Given the description of an element on the screen output the (x, y) to click on. 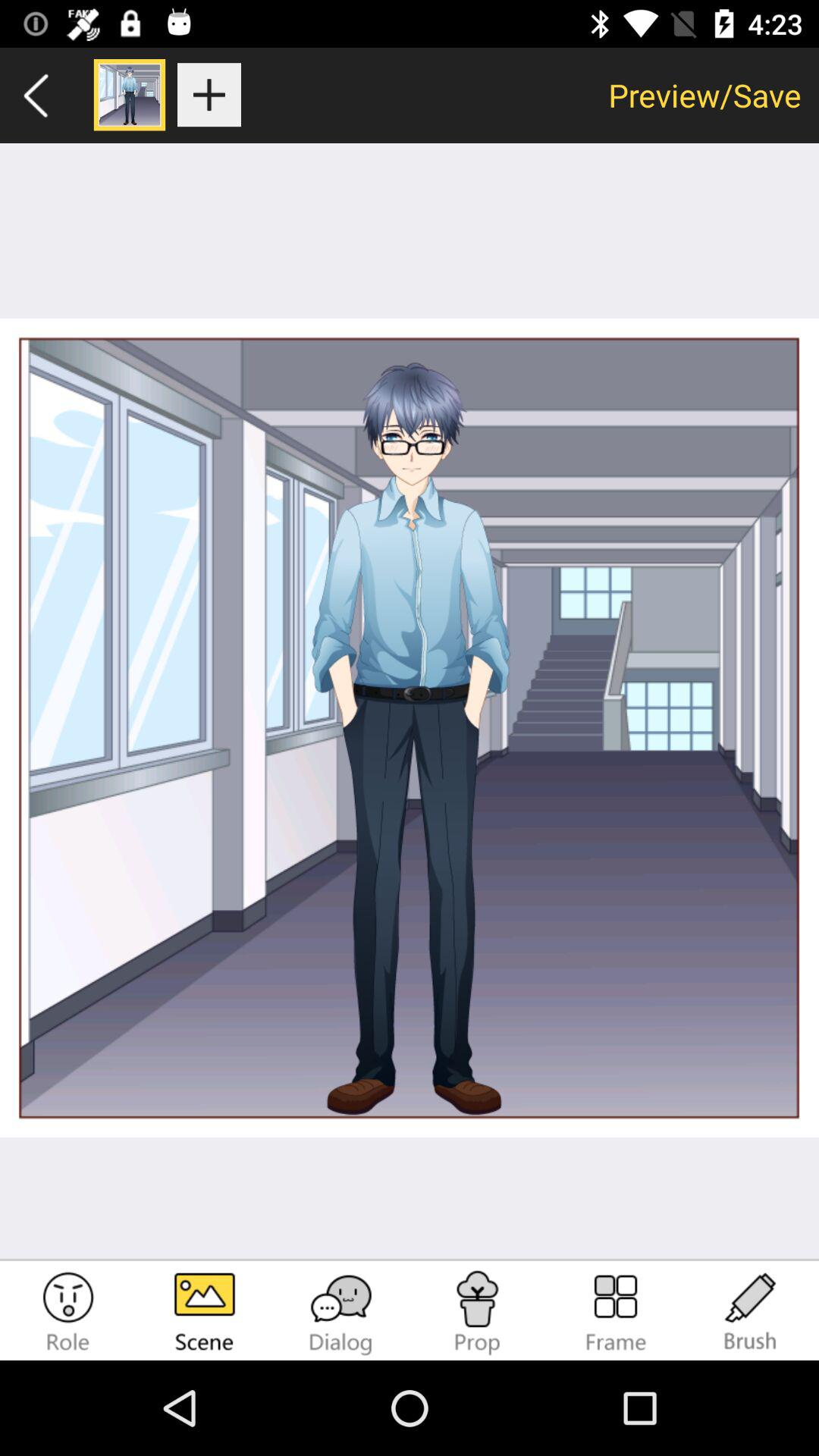
flip to preview/save (704, 94)
